Given the description of an element on the screen output the (x, y) to click on. 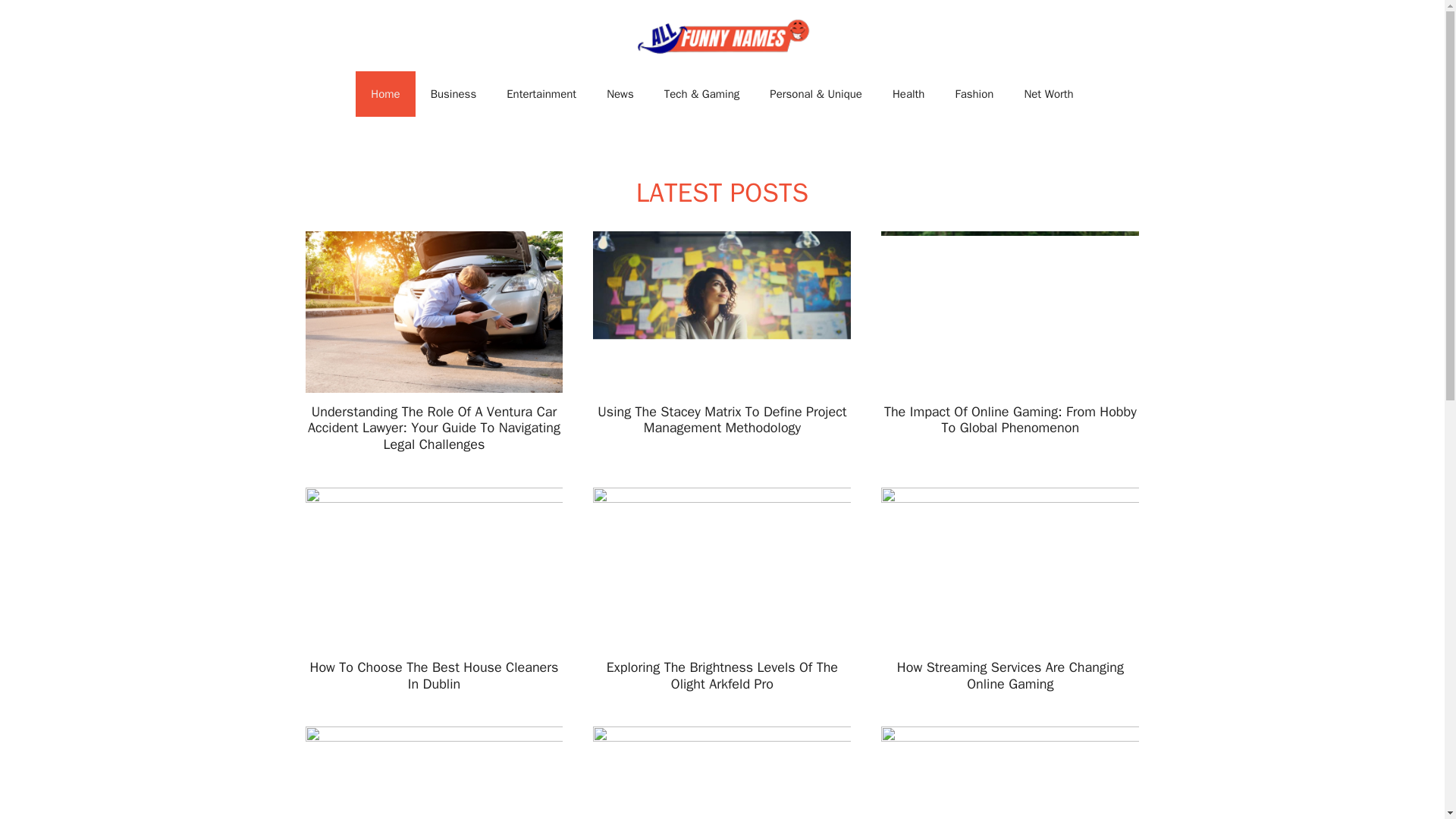
Net Worth (1048, 94)
Health (908, 94)
Entertainment (541, 94)
How To Choose The Best House Cleaners In Dublin (434, 675)
Exploring The Brightness Levels Of The Olight Arkfeld Pro (722, 675)
How Streaming Services Are Changing Online Gaming (1010, 675)
Fashion (974, 94)
The Impact Of Online Gaming: From Hobby To Global Phenomenon (1010, 419)
